Given the description of an element on the screen output the (x, y) to click on. 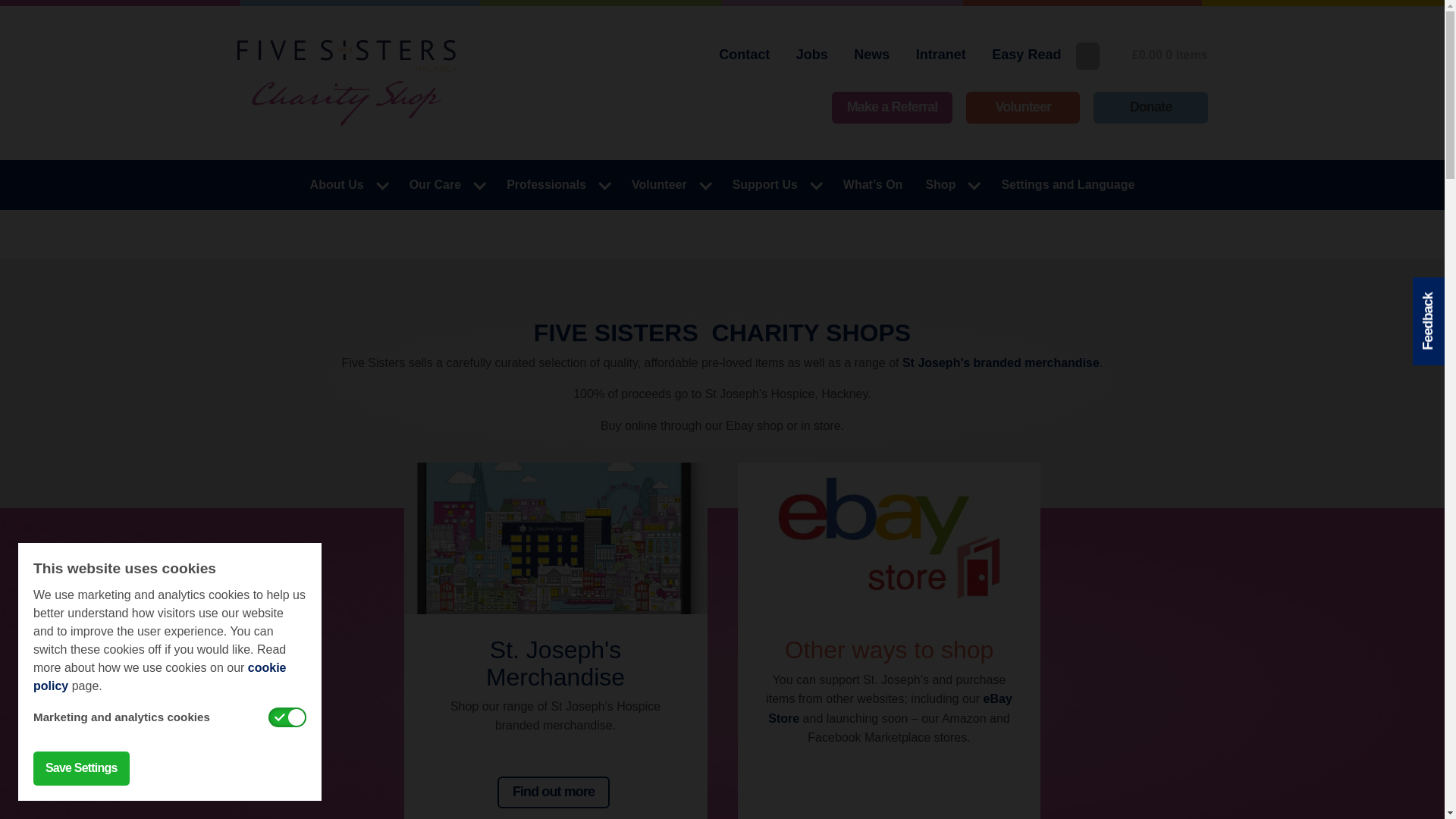
Volunteer (1023, 107)
St. Joseph's Merchandise (555, 472)
View your shopping cart (1162, 54)
St. Joseph's Merchandise (555, 663)
Our Care (446, 184)
Jobs (812, 54)
Easy Read (1025, 54)
Make a Referral (892, 107)
Donate (1150, 107)
Contact (743, 54)
News (872, 54)
About Us (347, 184)
Intranet (940, 54)
